Given the description of an element on the screen output the (x, y) to click on. 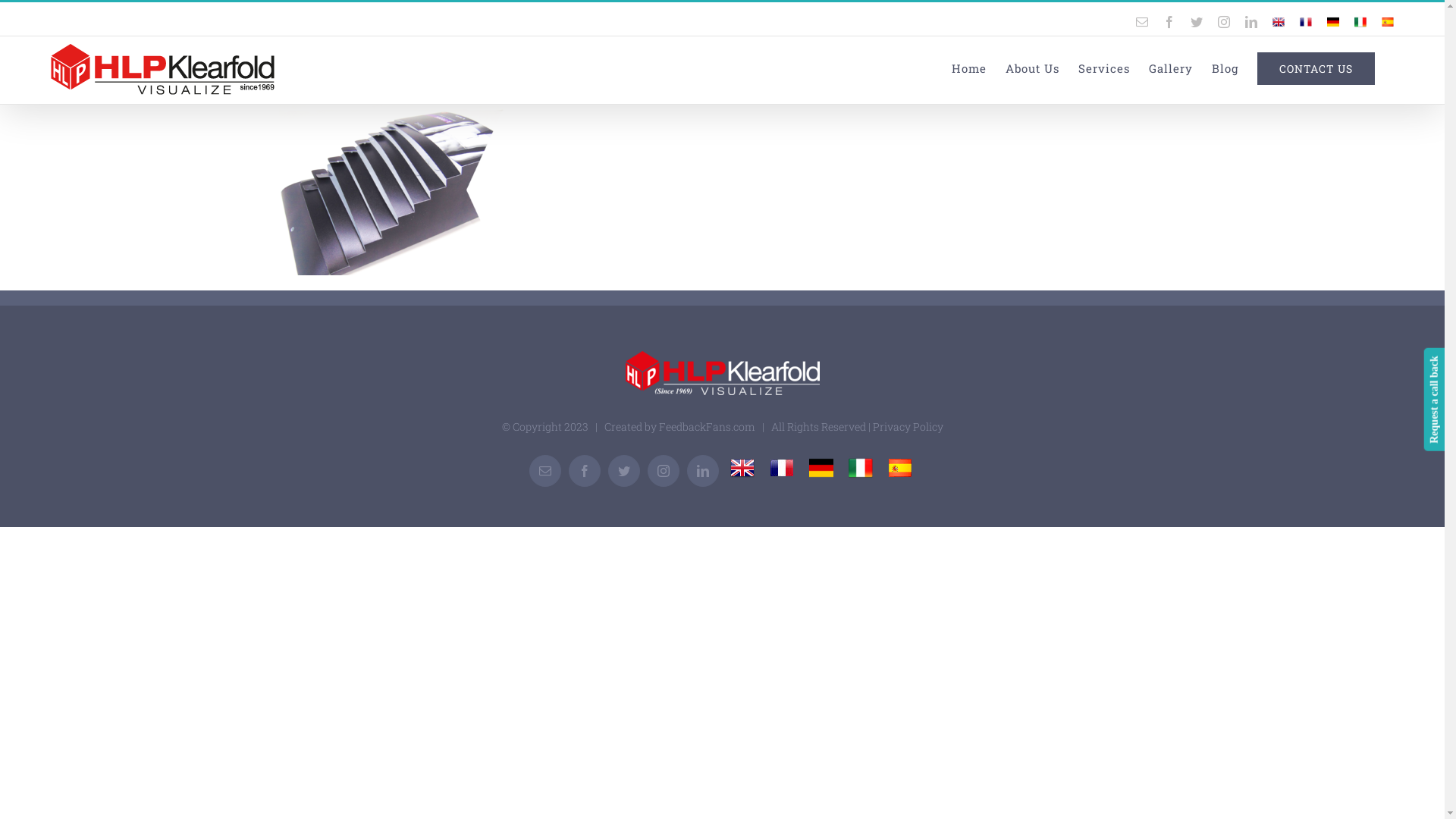
France Element type: text (781, 467)
Italy Element type: text (1360, 21)
Spain Element type: text (1387, 21)
About Us Element type: text (1032, 68)
Twitter Element type: text (1196, 21)
Spain Element type: text (900, 467)
Facebook Element type: text (1169, 21)
UK Element type: text (742, 467)
Facebook Element type: text (584, 470)
Privacy Policy Element type: text (907, 426)
Email Element type: text (545, 470)
Email Element type: text (1141, 21)
UK Element type: text (1278, 21)
CONTACT US Element type: text (1315, 68)
Services Element type: text (1103, 68)
Blog Element type: text (1224, 68)
Germany Element type: text (821, 467)
Twitter Element type: text (624, 470)
Italy Element type: text (860, 467)
France Element type: text (1305, 21)
Gallery Element type: text (1170, 68)
LinkedIn Element type: text (1251, 21)
Instagram Element type: text (1223, 21)
Home Element type: text (968, 68)
Instagram Element type: text (663, 470)
FeedbackFans.com Element type: text (706, 426)
Germany Element type: text (1333, 21)
LinkedIn Element type: text (702, 470)
